Given the description of an element on the screen output the (x, y) to click on. 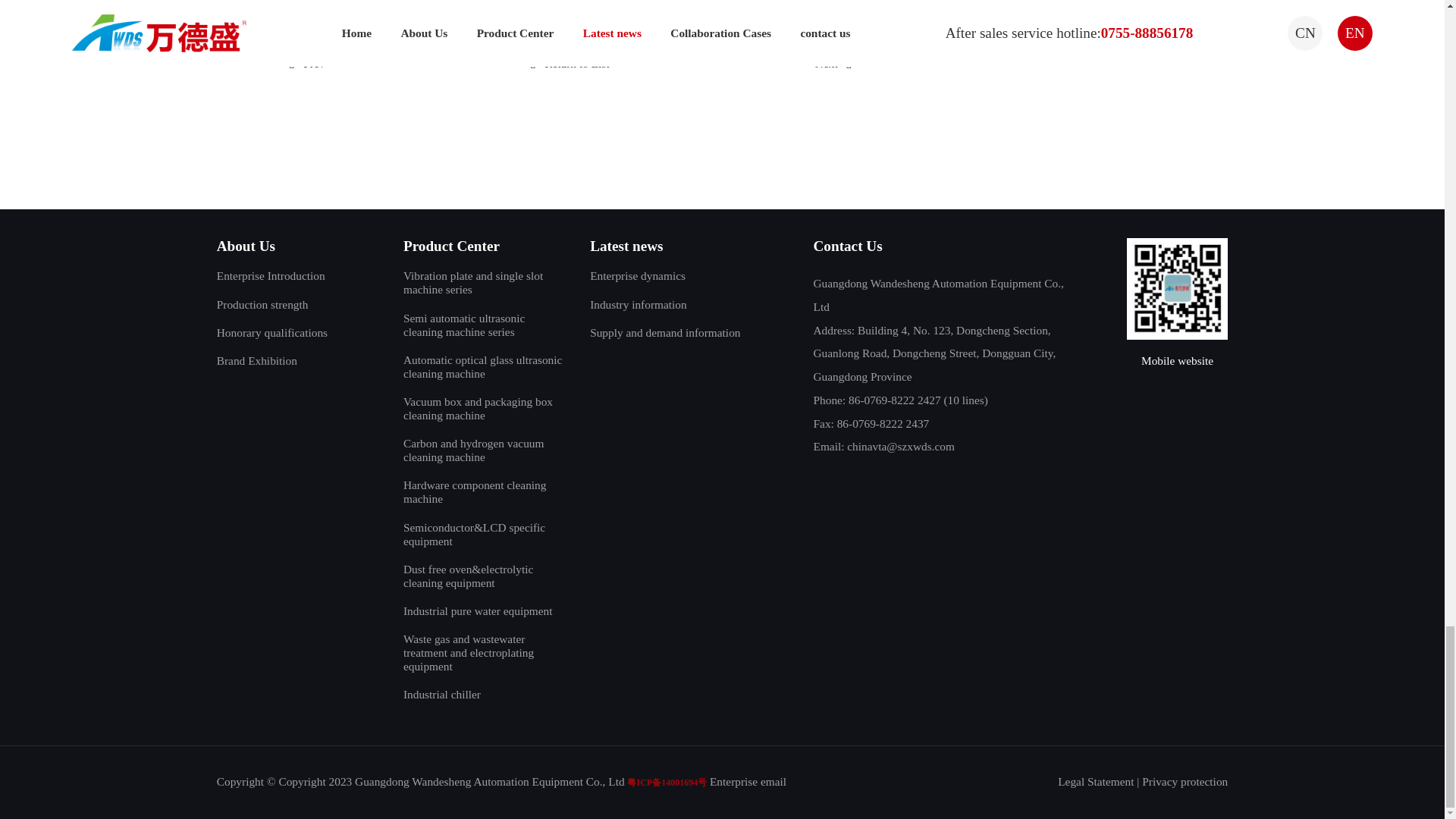
Prev (307, 63)
Return to List (569, 63)
Next (833, 63)
